Given the description of an element on the screen output the (x, y) to click on. 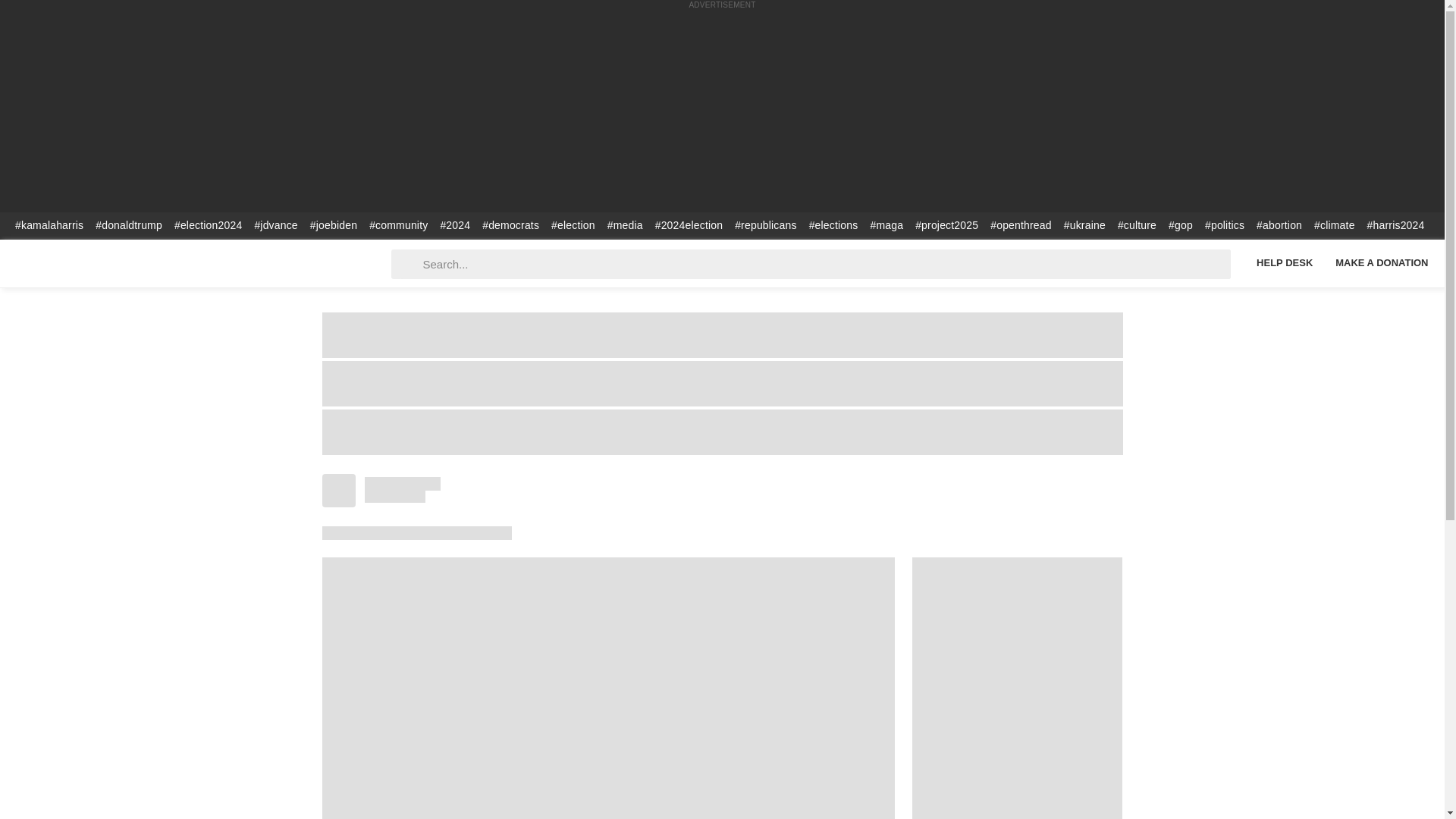
Help Desk (1283, 262)
MAKE A DONATION (1381, 262)
Make a Donation (1381, 262)
